Given the description of an element on the screen output the (x, y) to click on. 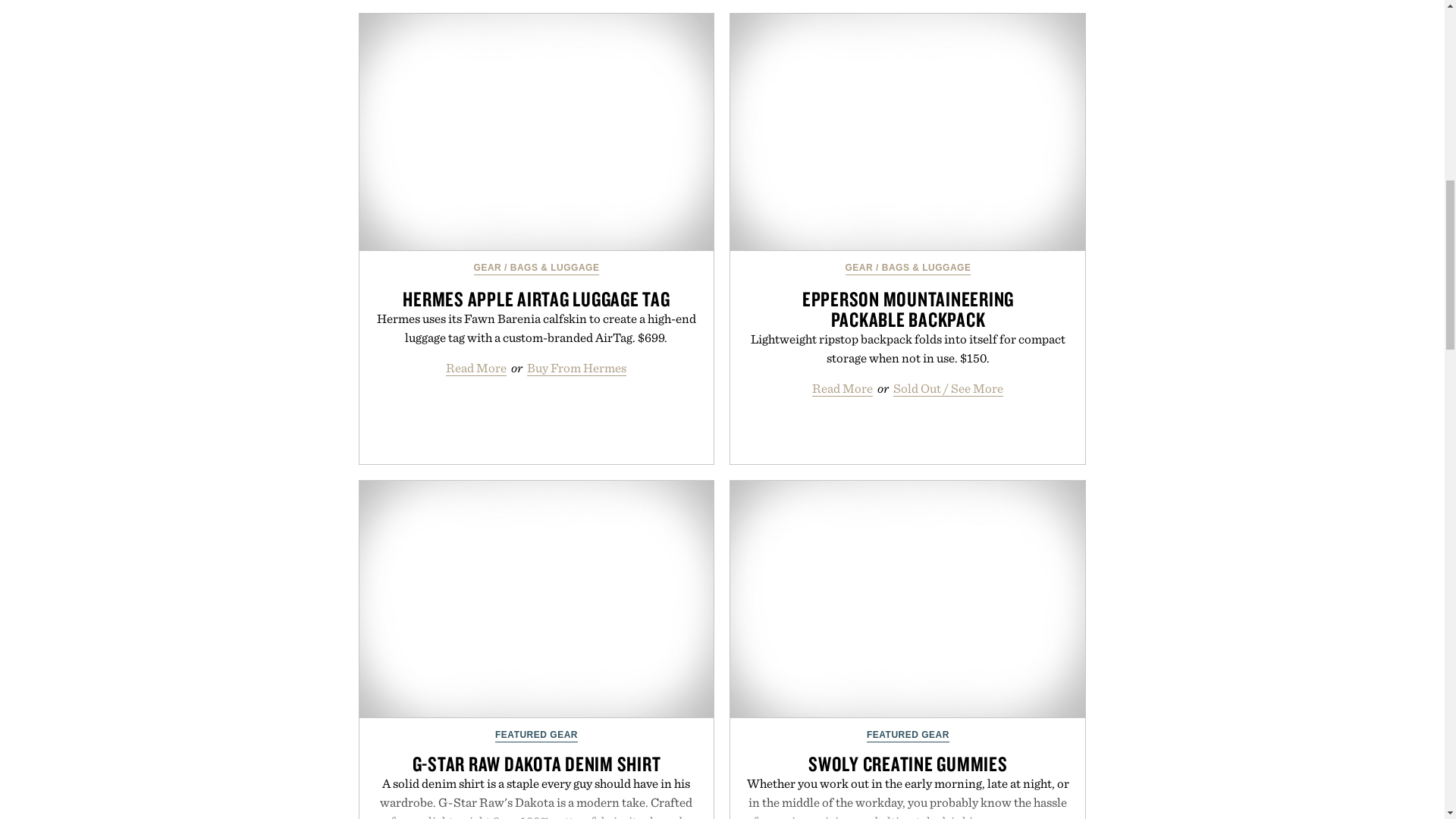
Epperson Mountaineering Packable Backpack (907, 131)
Hermes Apple AirTag Luggage Tag (536, 131)
Swoly Creatine Gummies (907, 599)
G-Star Raw Dakota Denim Shirt (536, 599)
